Given the description of an element on the screen output the (x, y) to click on. 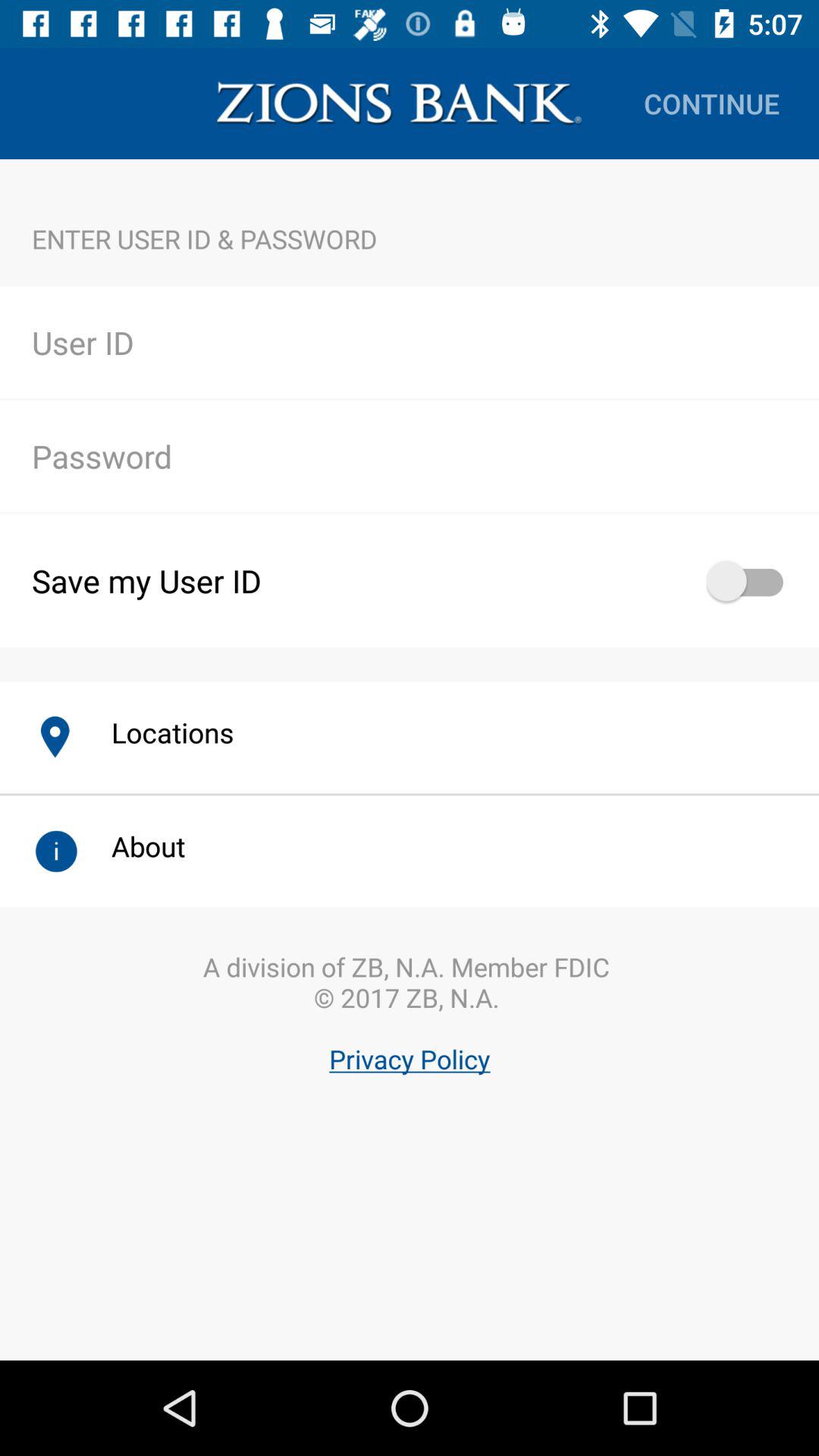
turn on item at the top right corner (711, 103)
